Given the description of an element on the screen output the (x, y) to click on. 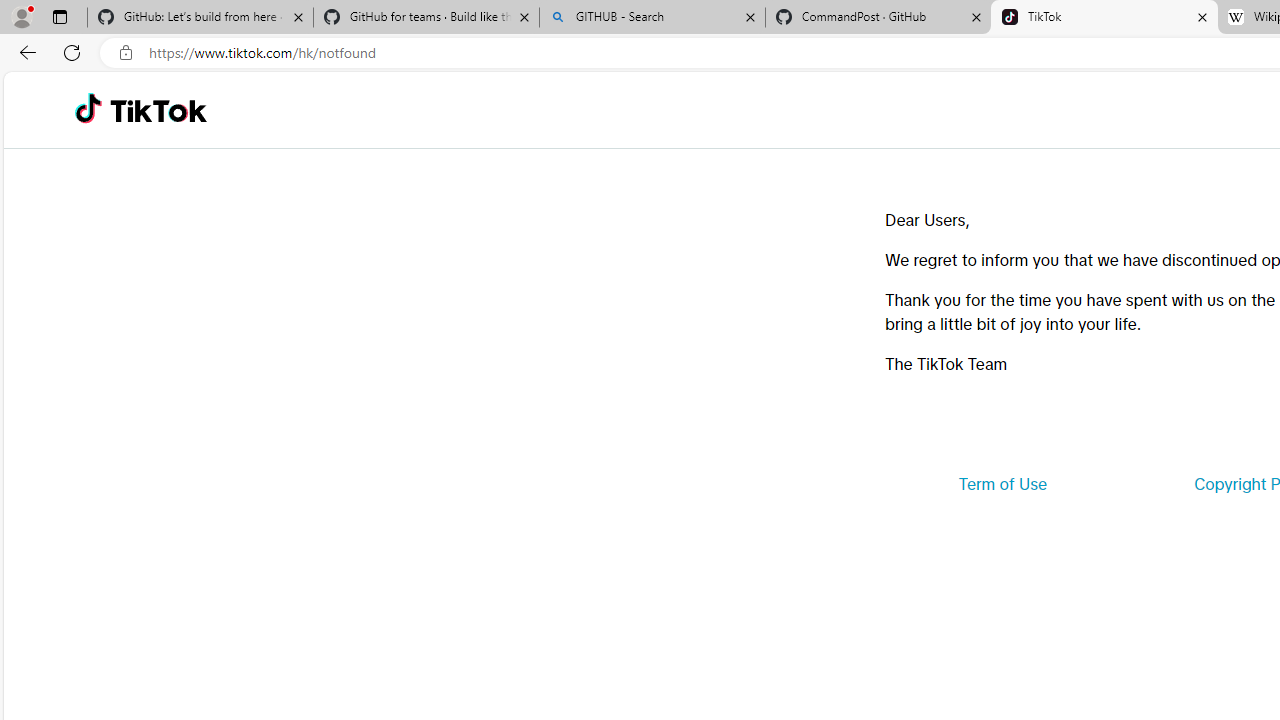
TikTok (1104, 17)
GITHUB - Search (652, 17)
Term of Use (1002, 484)
TikTok (158, 110)
